Given the description of an element on the screen output the (x, y) to click on. 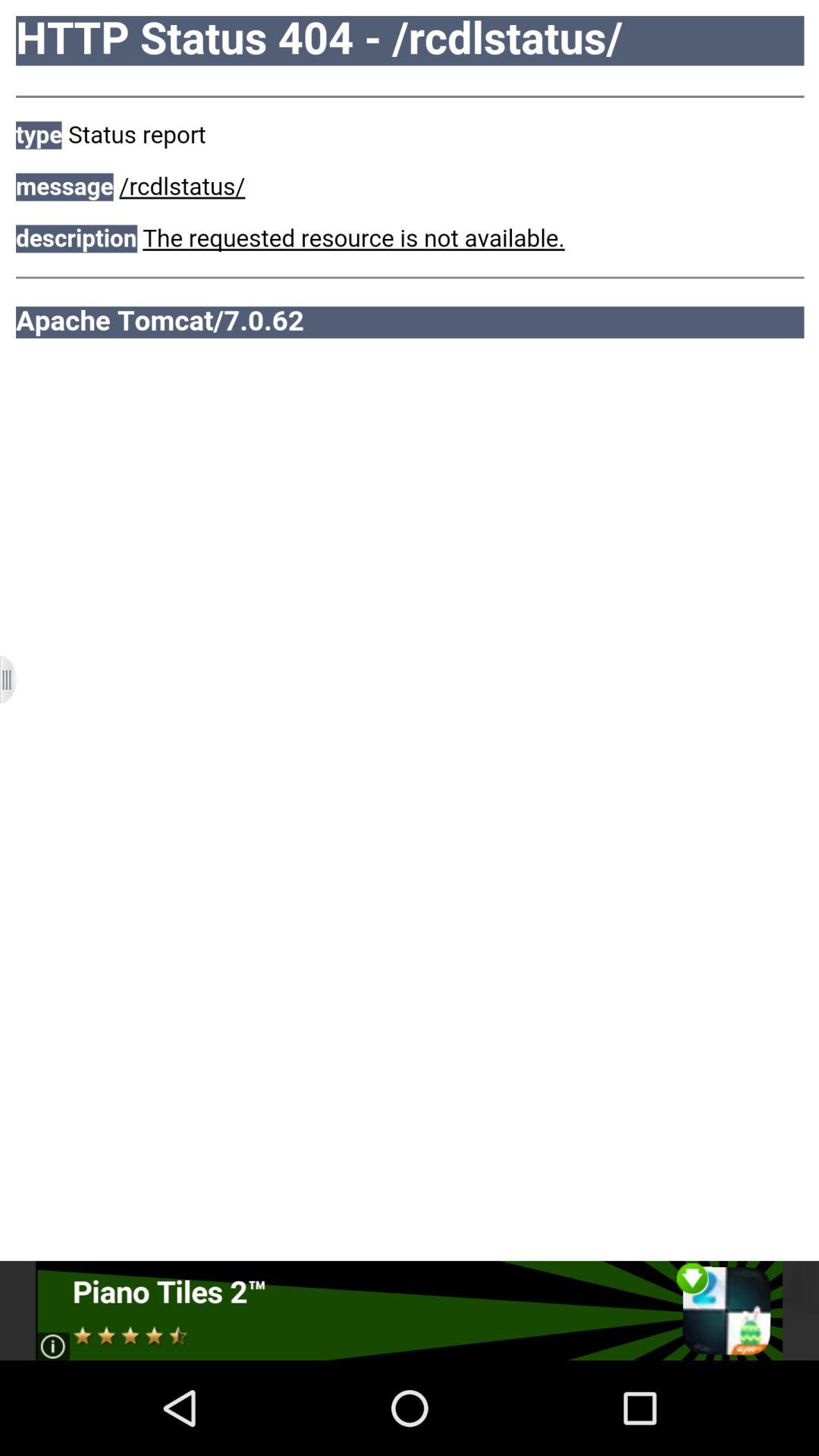
advertisement banner (408, 1310)
